Given the description of an element on the screen output the (x, y) to click on. 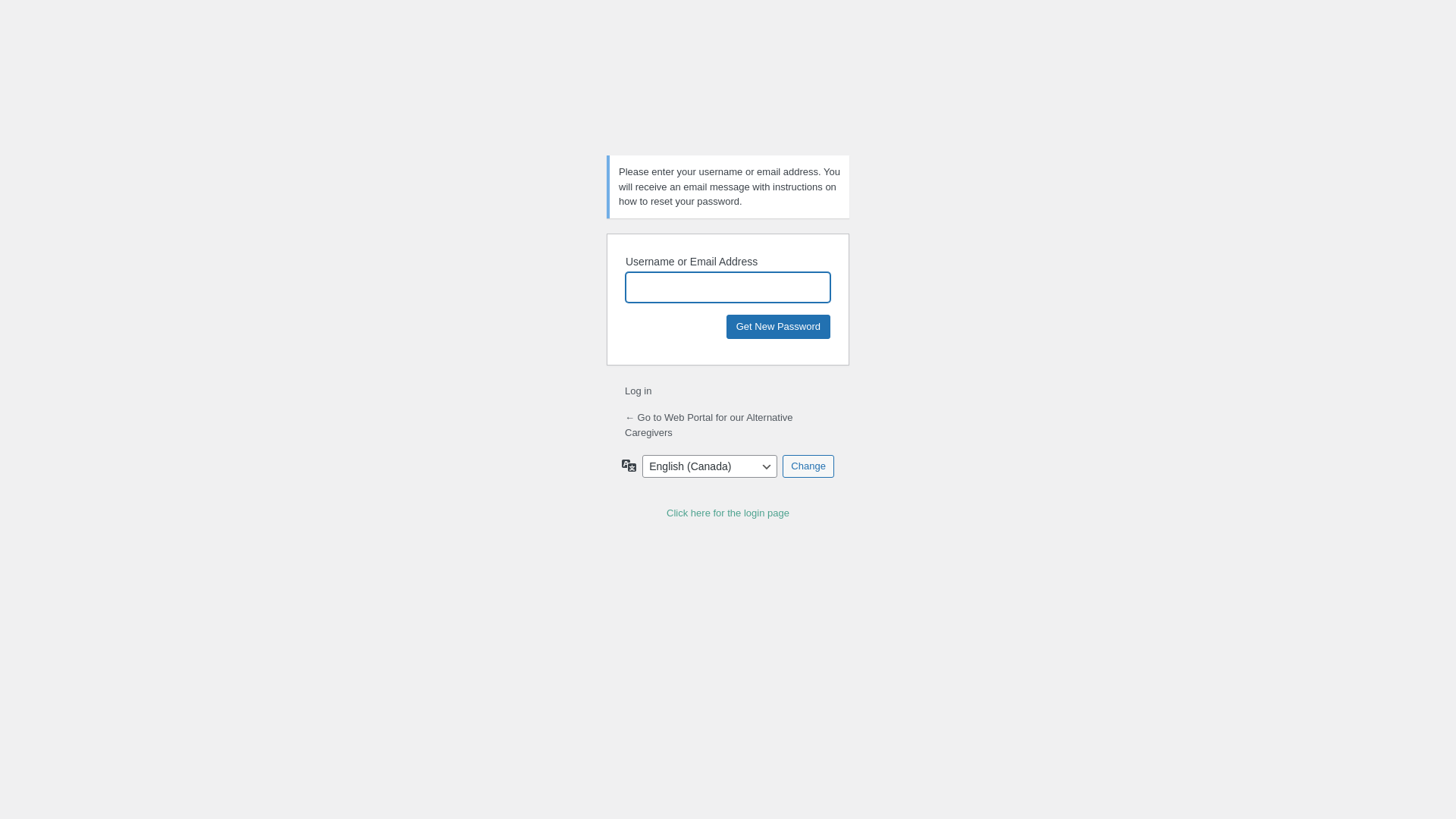
Powered by WordPress Element type: text (727, 104)
Log in Element type: text (637, 390)
Get New Password Element type: text (778, 325)
Change Element type: text (808, 466)
Click here for the login page Element type: text (727, 512)
